Given the description of an element on the screen output the (x, y) to click on. 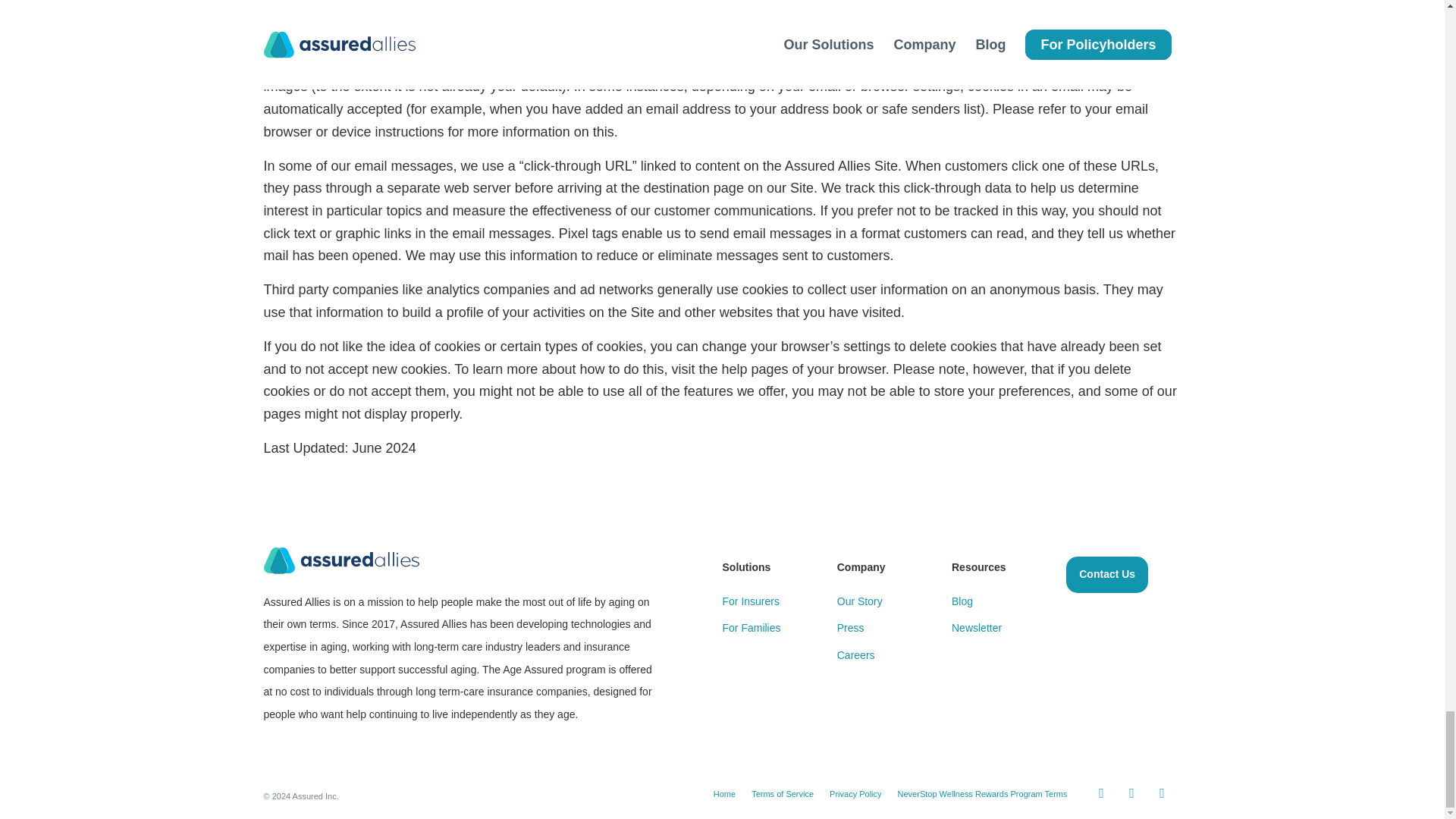
NeverStop Wellness Rewards Program Terms (982, 793)
Press (850, 627)
Contact Us (1106, 574)
For Insurers (750, 601)
Contact Us (1106, 574)
Our Story (859, 601)
Terms of Service (782, 793)
Careers (856, 654)
Privacy Policy (854, 793)
Newsletter (976, 627)
Blog (962, 601)
Home (724, 793)
For Families (751, 627)
